Given the description of an element on the screen output the (x, y) to click on. 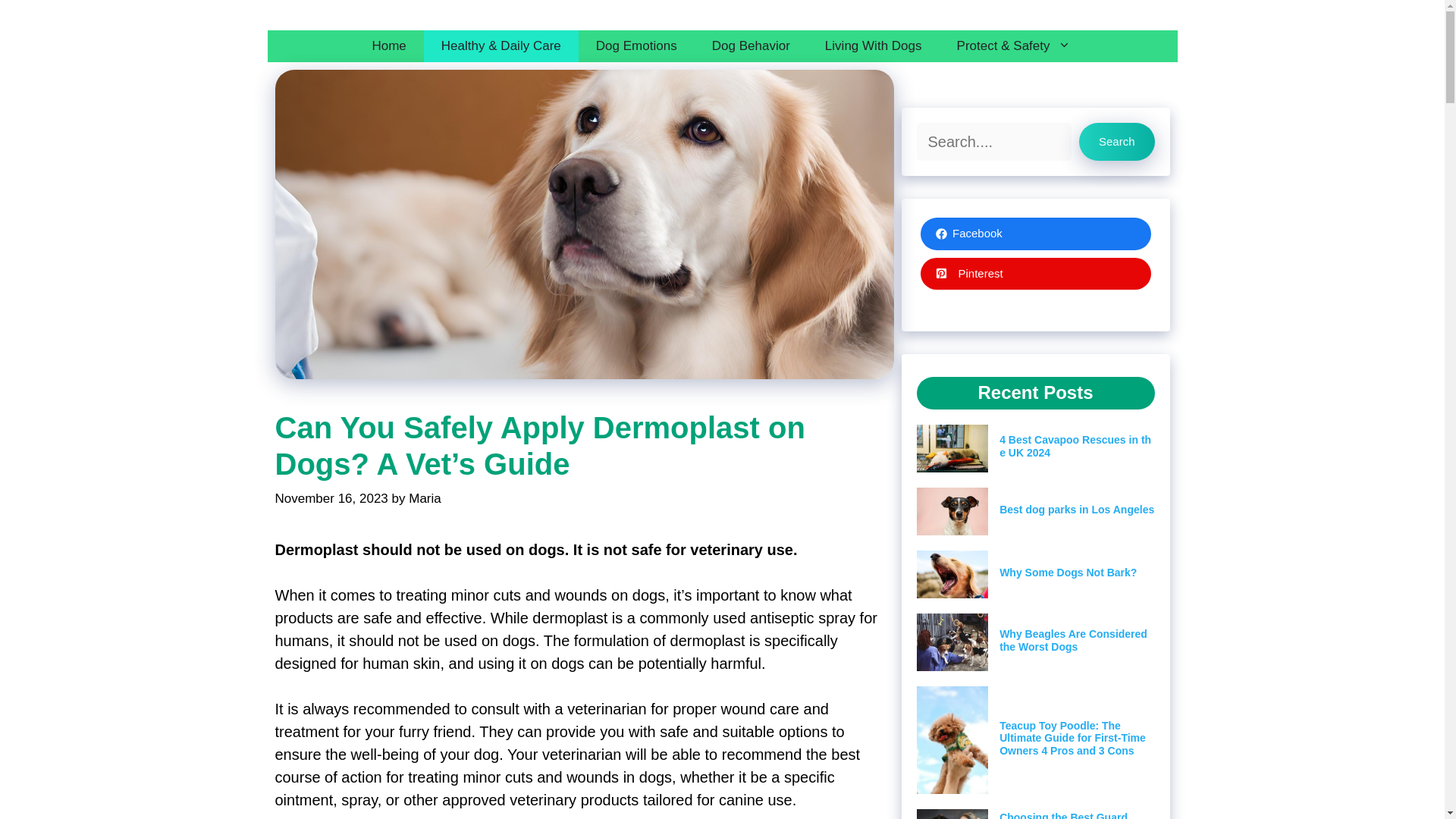
Best dog parks in Los Angeles (1076, 509)
View all posts by Maria (425, 498)
4 Best Cavapoo Rescues in the UK 2024 (1074, 446)
Search (1116, 141)
Home (388, 46)
Why Some Dogs Not Bark? (1067, 572)
Maria (425, 498)
Why Beagles Are Considered the Worst Dogs (1072, 640)
Facebook (1035, 233)
Living With Dogs (873, 46)
Dog Emotions (636, 46)
Pinterest (1035, 273)
Dog Behavior (751, 46)
